Given the description of an element on the screen output the (x, y) to click on. 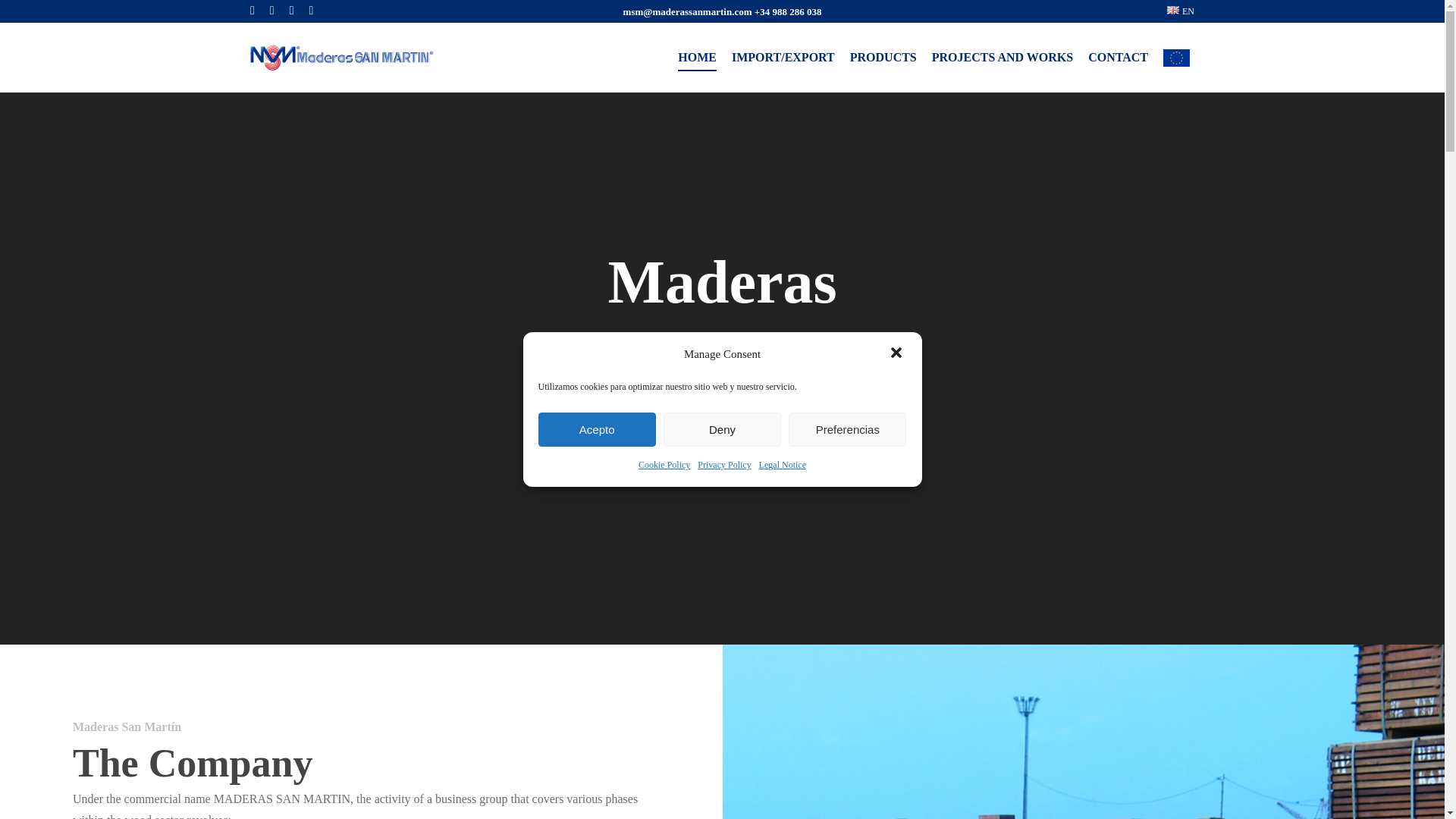
Acepto (597, 429)
EN (1180, 11)
PRODUCTS (883, 56)
Preferencias (847, 429)
SUPPORTS (1178, 57)
Contact (722, 447)
Cookie Policy (664, 464)
HOME (697, 56)
Legal Notice (782, 464)
CONTACT (1117, 56)
